Given the description of an element on the screen output the (x, y) to click on. 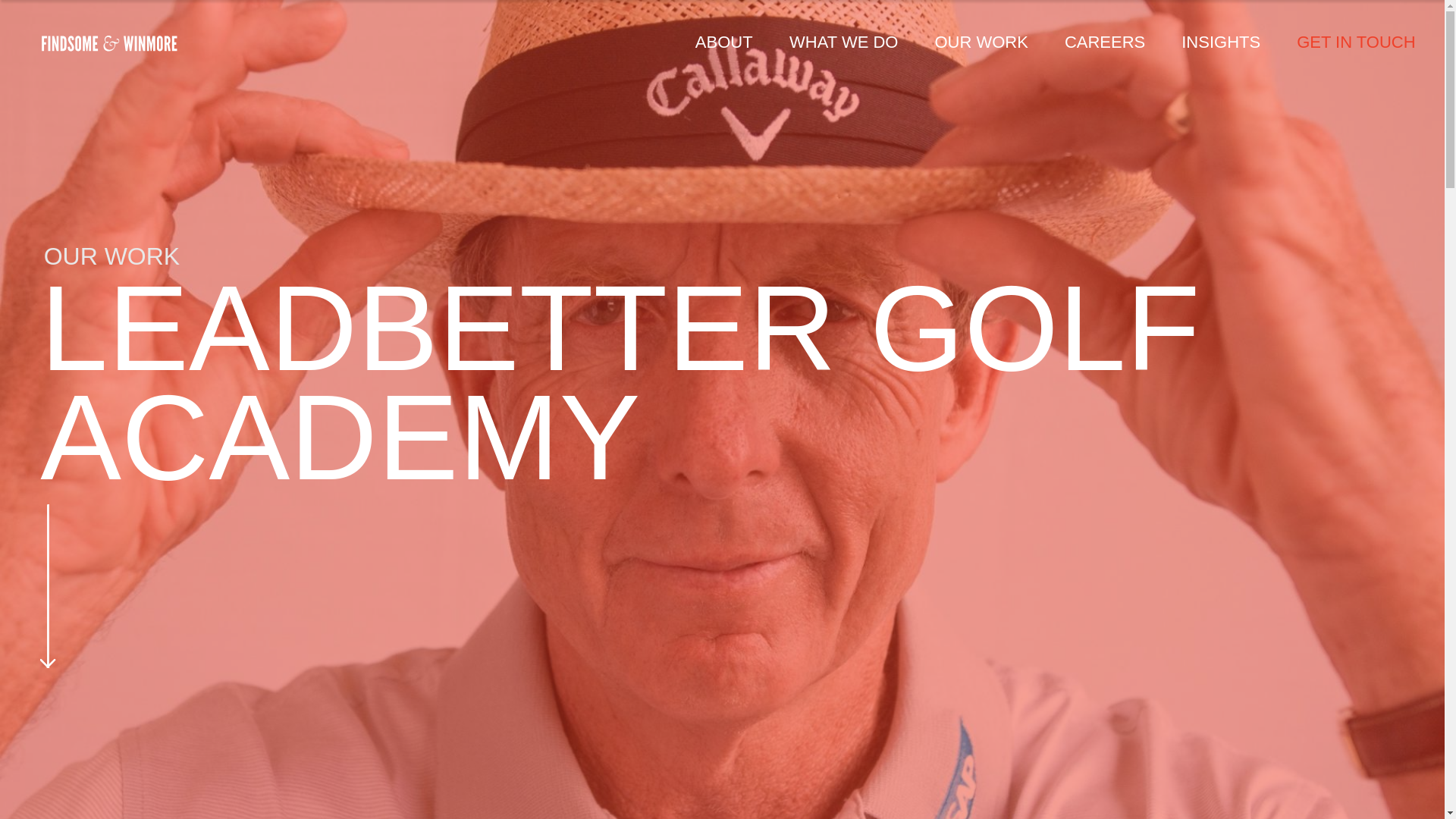
ABOUT (724, 43)
INSIGHTS (1220, 43)
CAREERS (1104, 43)
GET IN TOUCH (1346, 43)
WHAT WE DO (843, 43)
OUR WORK (980, 43)
